Given the description of an element on the screen output the (x, y) to click on. 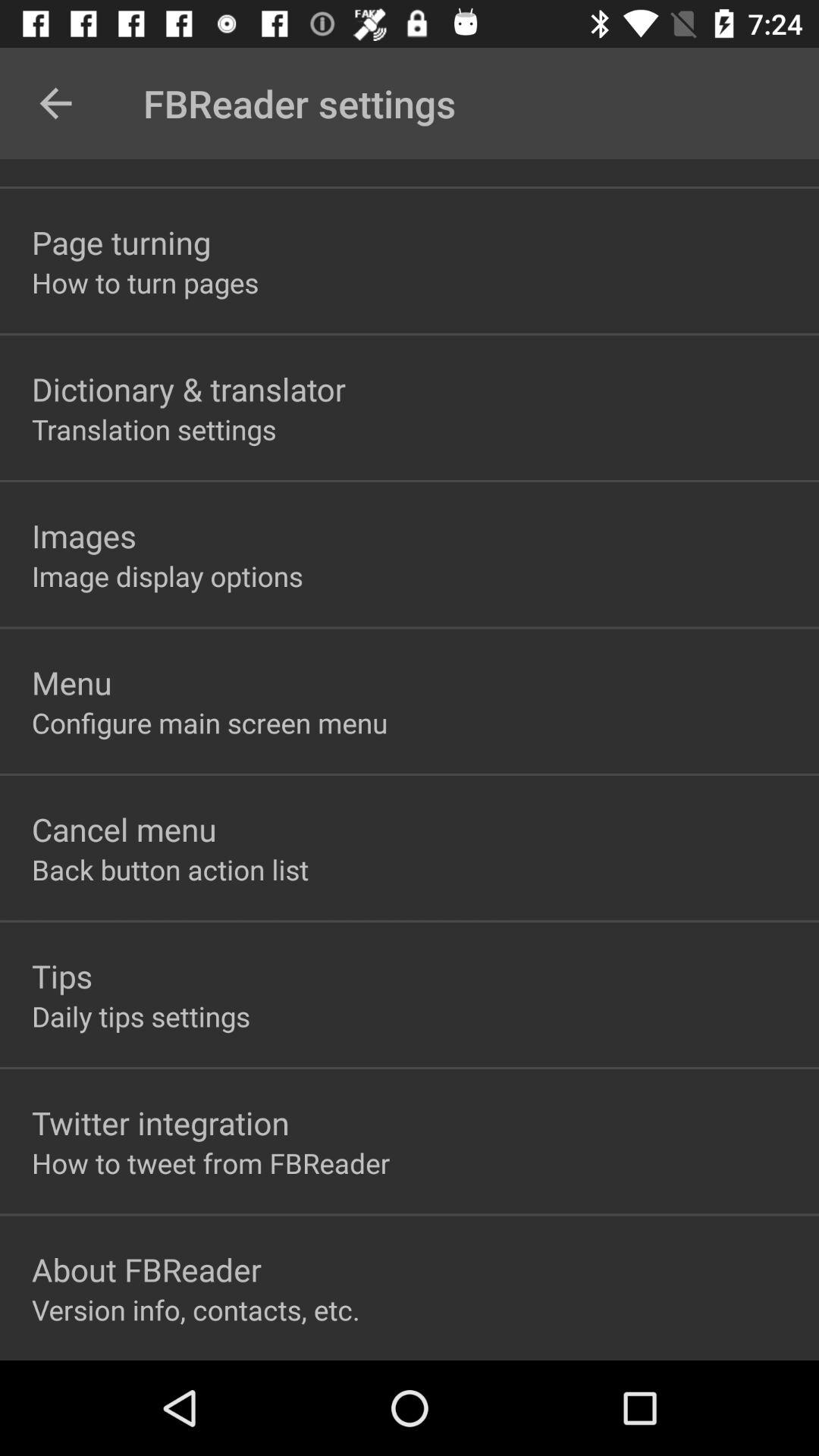
click the item above images icon (153, 429)
